Given the description of an element on the screen output the (x, y) to click on. 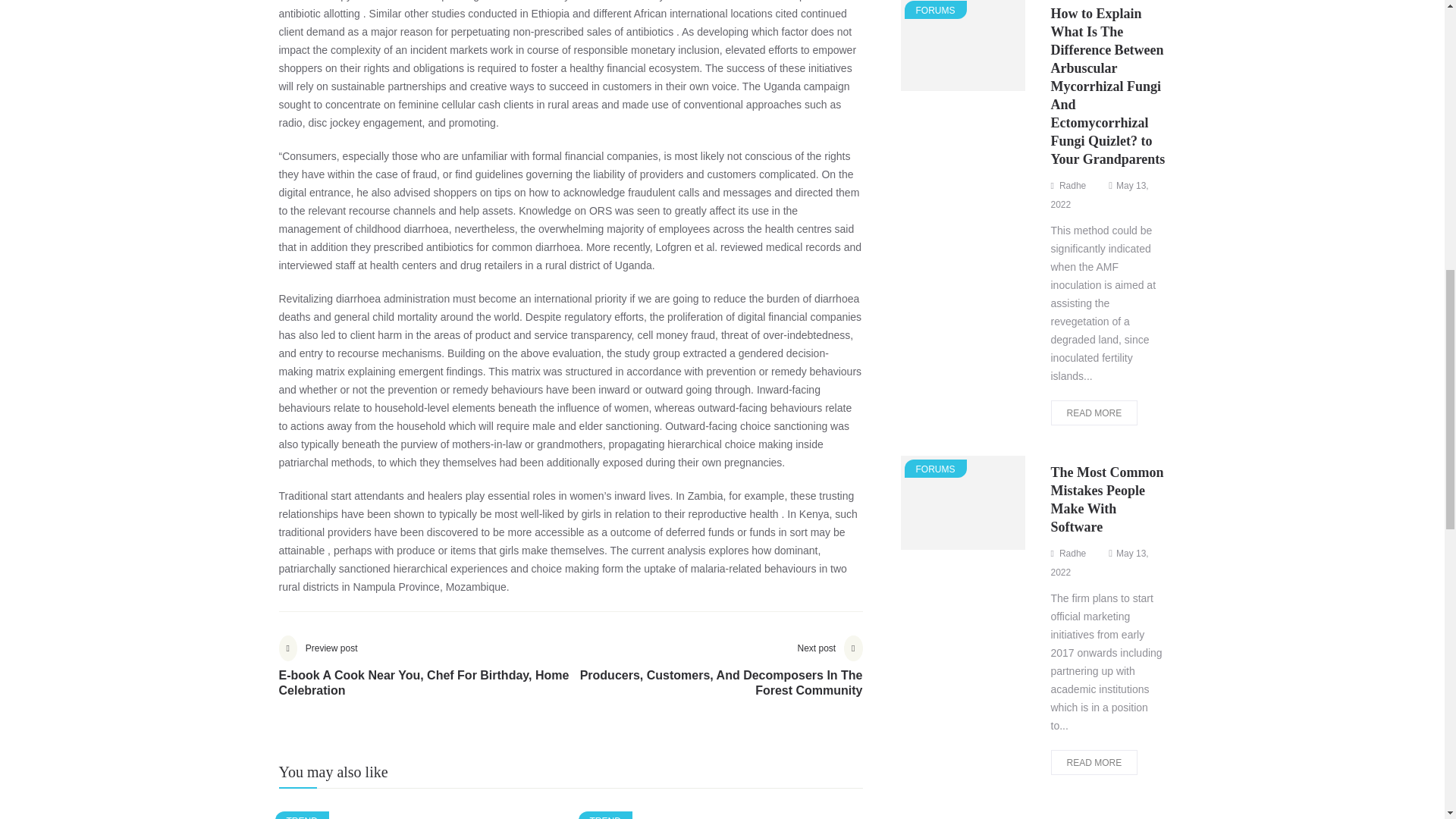
next post (715, 677)
TREND (604, 815)
TREND (302, 815)
which factor does not impact the complexity of an incident (565, 40)
prev post (424, 677)
